Given the description of an element on the screen output the (x, y) to click on. 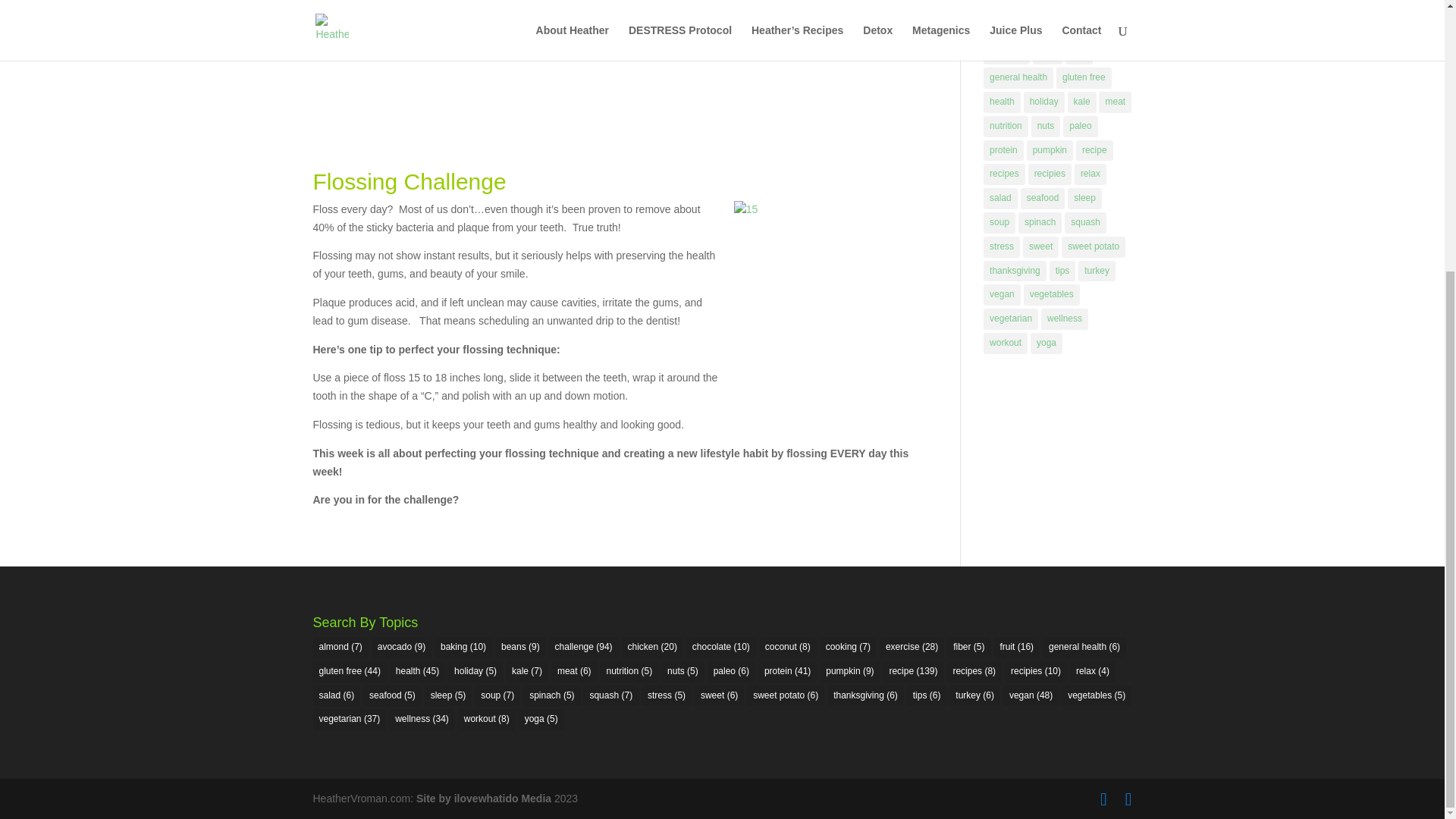
challenge (1048, 8)
exercise (1006, 53)
kale (1081, 102)
general health (1018, 77)
paleo (1079, 126)
fruit (1079, 53)
gluten free (1084, 77)
chocolate (1008, 29)
meat (1115, 102)
cooking (1105, 29)
